Given the description of an element on the screen output the (x, y) to click on. 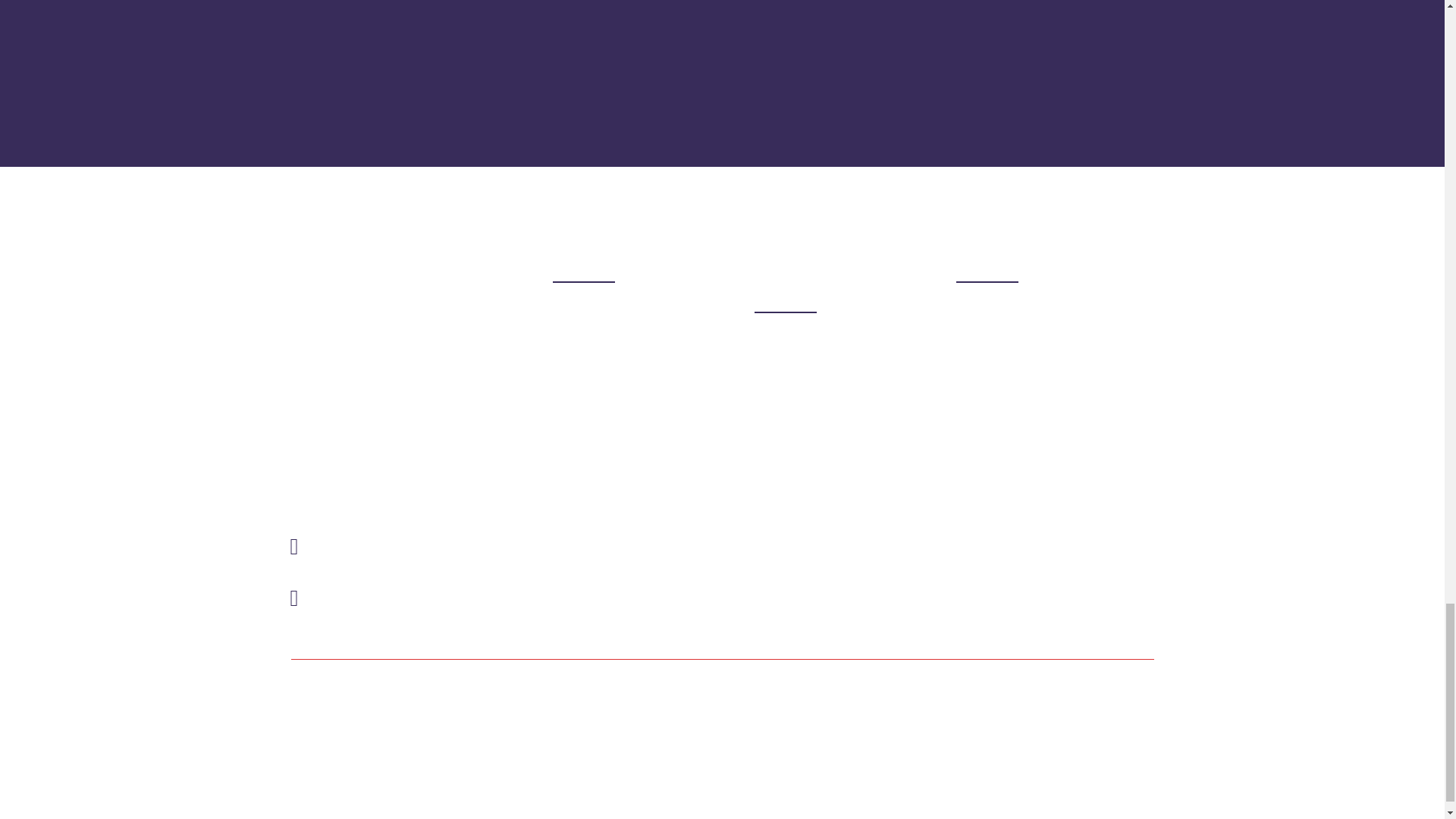
map-marker (293, 546)
phone (293, 598)
